Given the description of an element on the screen output the (x, y) to click on. 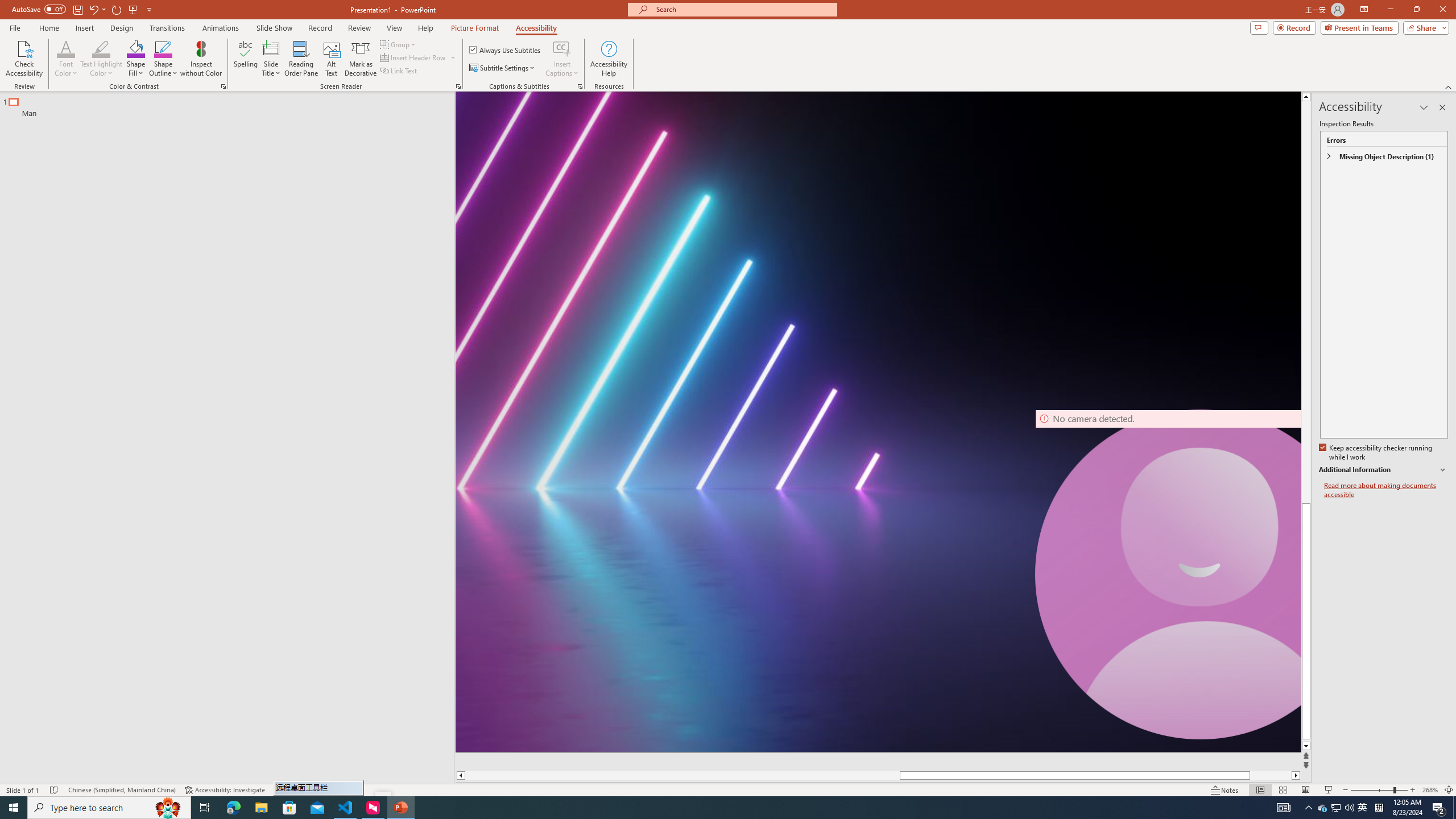
Reading Order Pane (301, 58)
Mark as Decorative (360, 58)
Spelling... (245, 58)
Transitions (167, 28)
Customize Quick Access Toolbar (149, 9)
AutoSave (38, 9)
View (395, 28)
File Tab (15, 27)
Zoom Out (1372, 790)
Zoom In (1412, 790)
Group (398, 44)
Share (1423, 27)
